Given the description of an element on the screen output the (x, y) to click on. 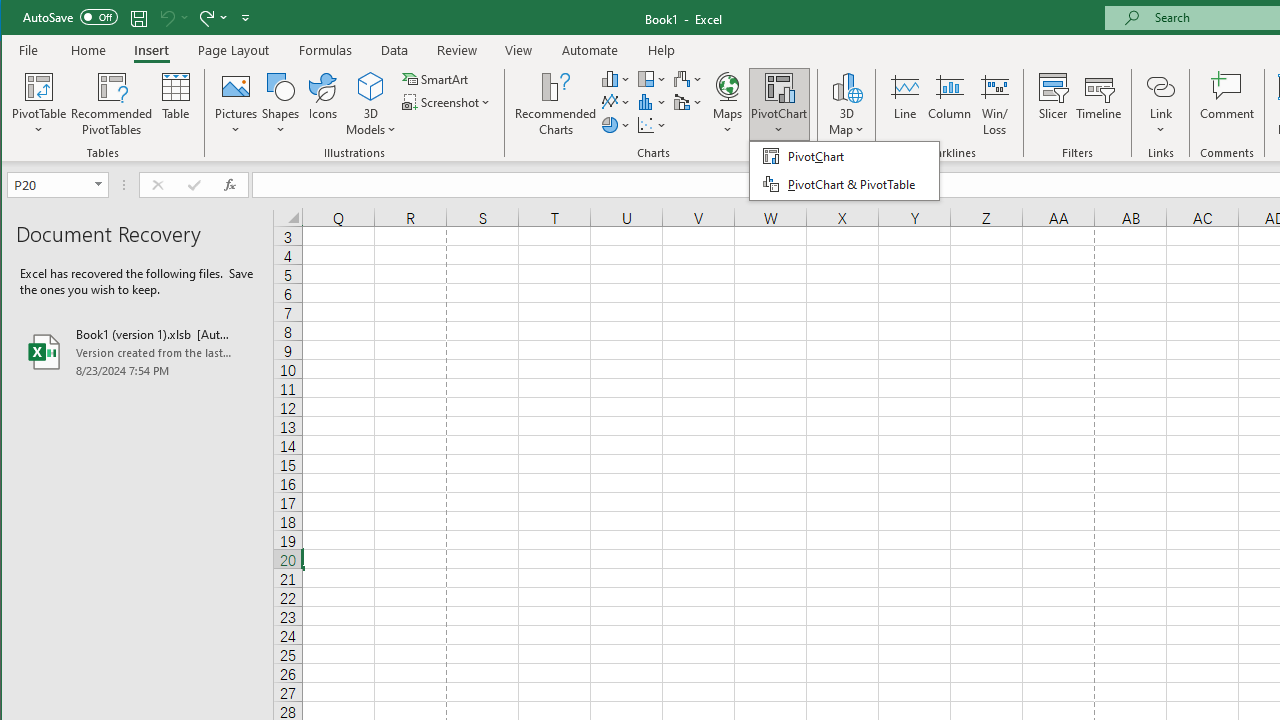
Win/Loss (995, 104)
Column (949, 104)
Icons (323, 104)
Shapes (280, 104)
Comment (1227, 104)
Insert Waterfall, Funnel, Stock, Surface, or Radar Chart (688, 78)
Insert Pie or Doughnut Chart (616, 124)
3D Map (846, 86)
Pivot&Chart (843, 170)
Insert Statistic Chart (652, 101)
